Given the description of an element on the screen output the (x, y) to click on. 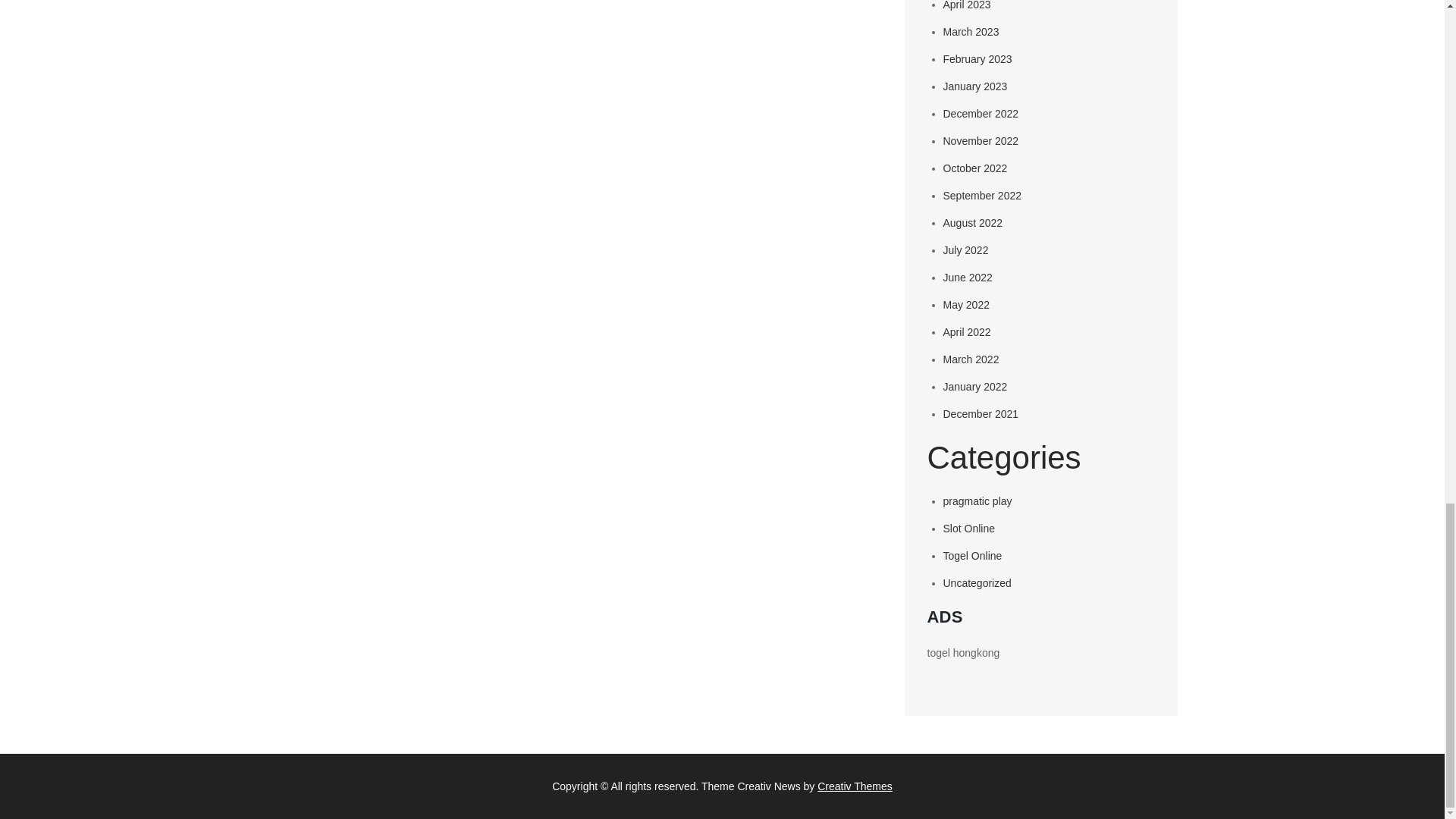
January 2023 (975, 86)
December 2022 (981, 113)
March 2023 (970, 31)
November 2022 (981, 141)
April 2023 (967, 5)
February 2023 (977, 59)
